Given the description of an element on the screen output the (x, y) to click on. 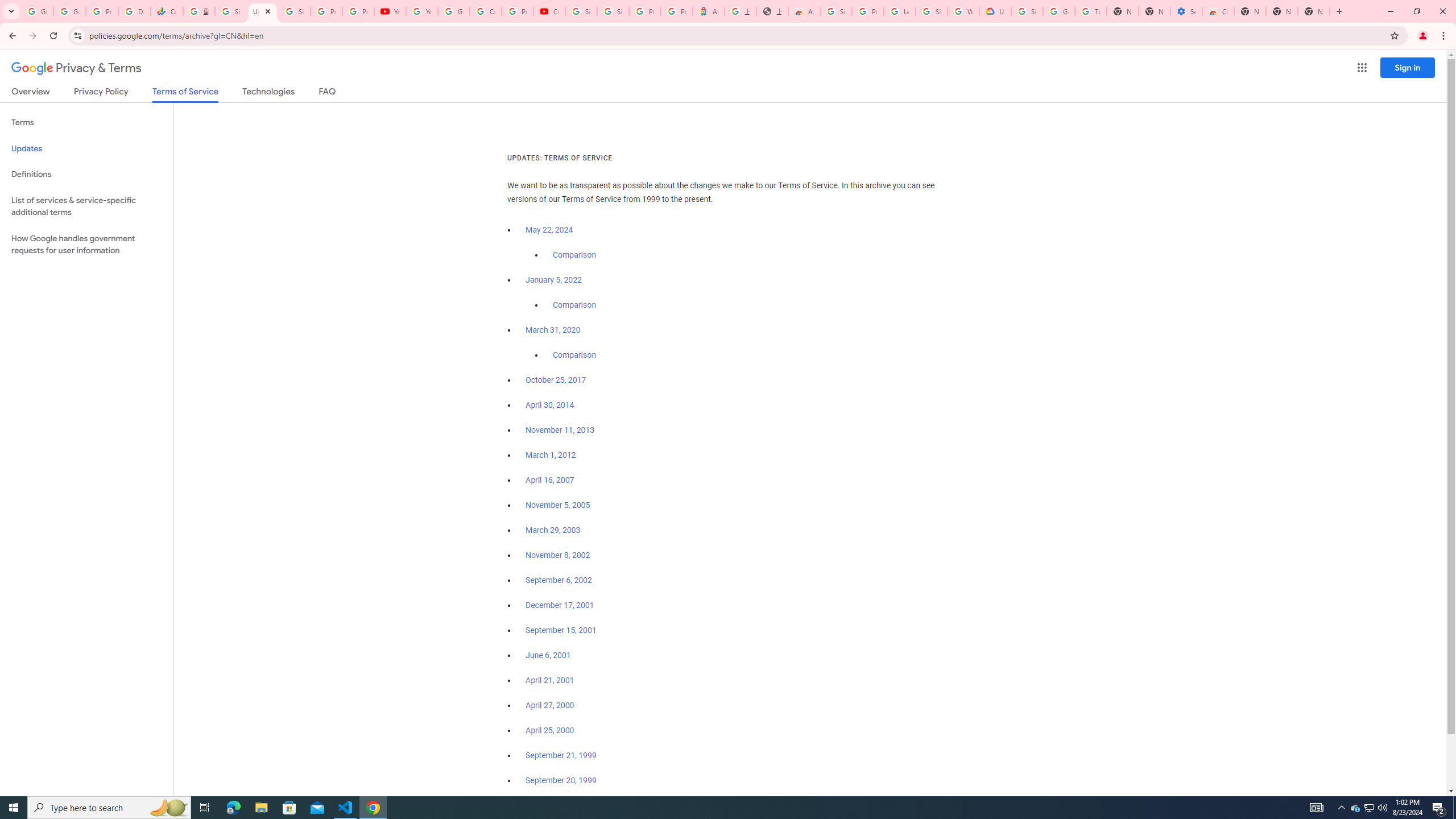
September 6, 2002 (558, 579)
Who are Google's partners? - Privacy and conditions - Google (963, 11)
October 25, 2017 (555, 380)
Create your Google Account (485, 11)
Google Account Help (453, 11)
June 6, 2001 (547, 655)
December 17, 2001 (559, 605)
Sign in - Google Accounts (931, 11)
List of services & service-specific additional terms (86, 206)
